Given the description of an element on the screen output the (x, y) to click on. 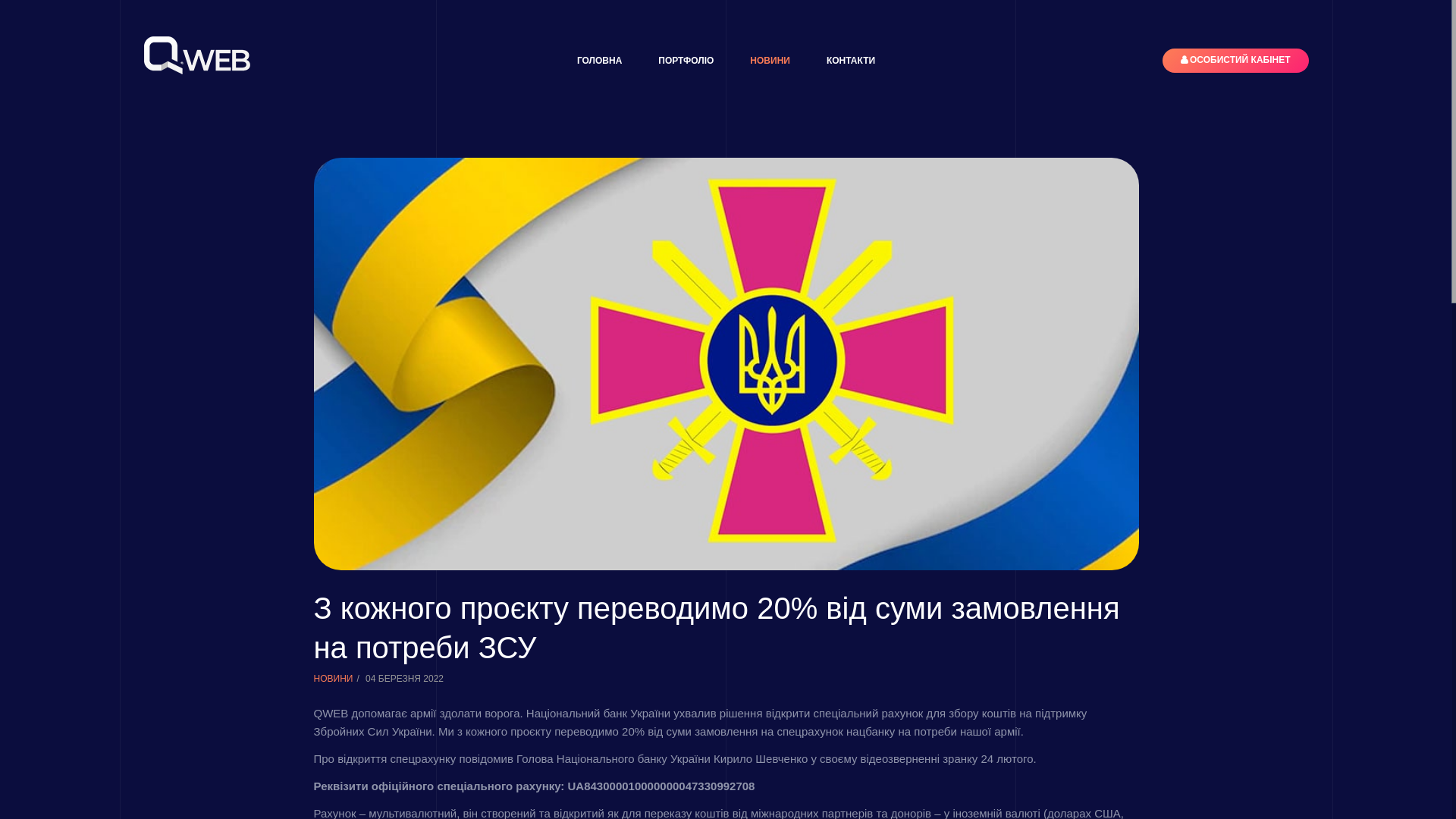
QWEB Element type: hover (197, 55)
